Given the description of an element on the screen output the (x, y) to click on. 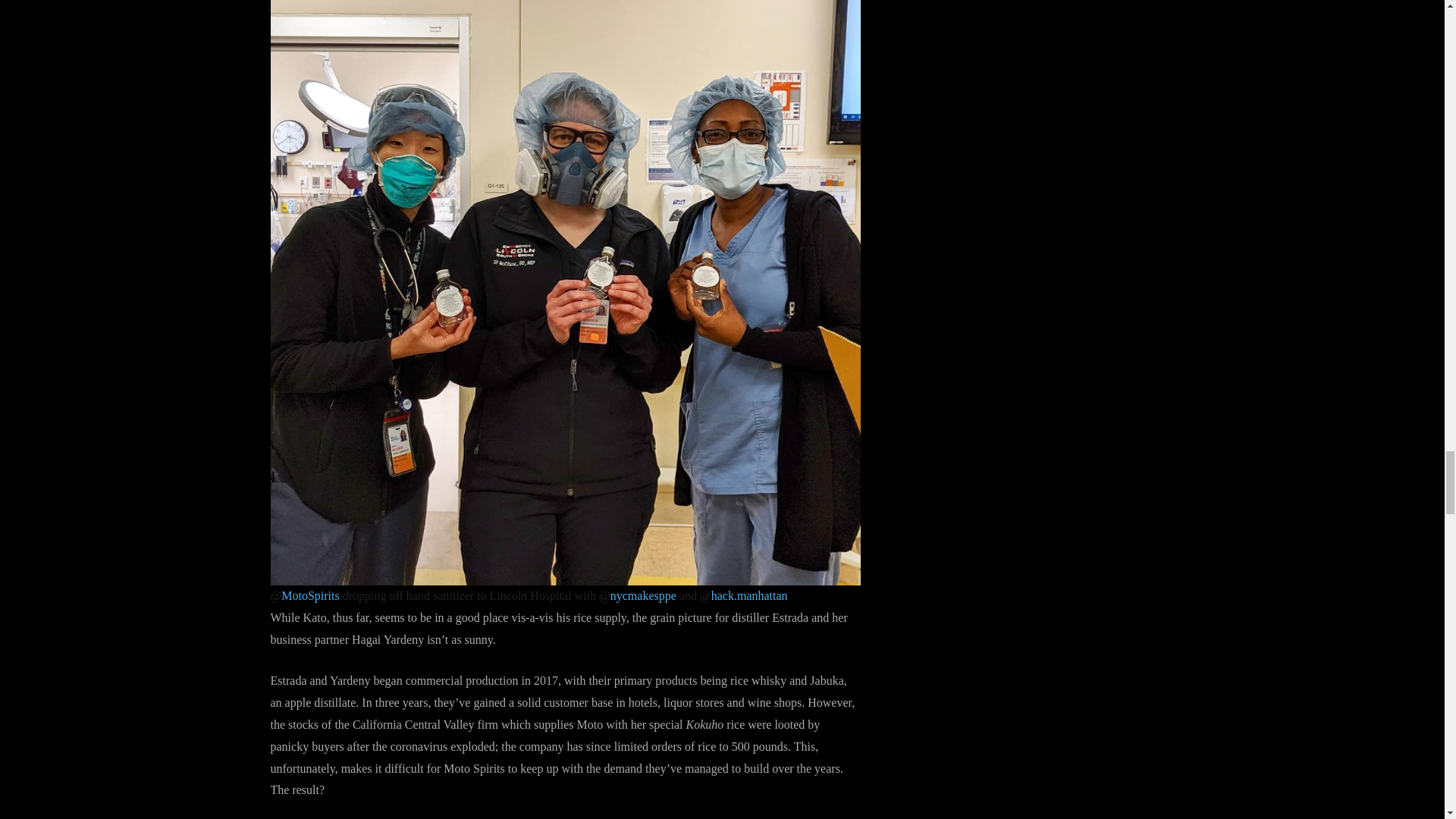
nycmakesppe (643, 594)
MotoSpirits (310, 594)
hack.manhattan (749, 594)
